Given the description of an element on the screen output the (x, y) to click on. 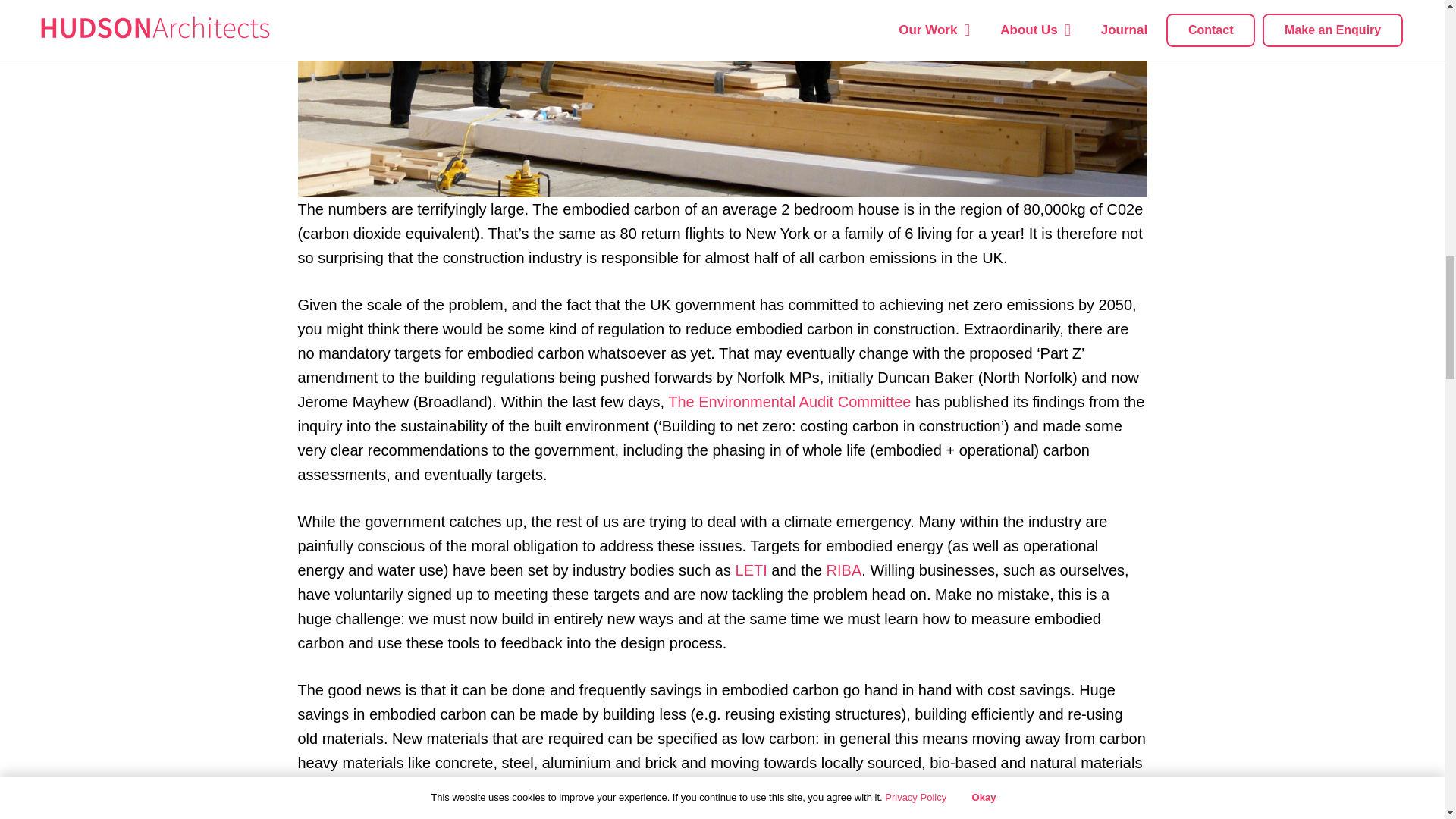
The Environmental Audit Committee (791, 401)
RIBA (844, 569)
LETI (751, 569)
